Given the description of an element on the screen output the (x, y) to click on. 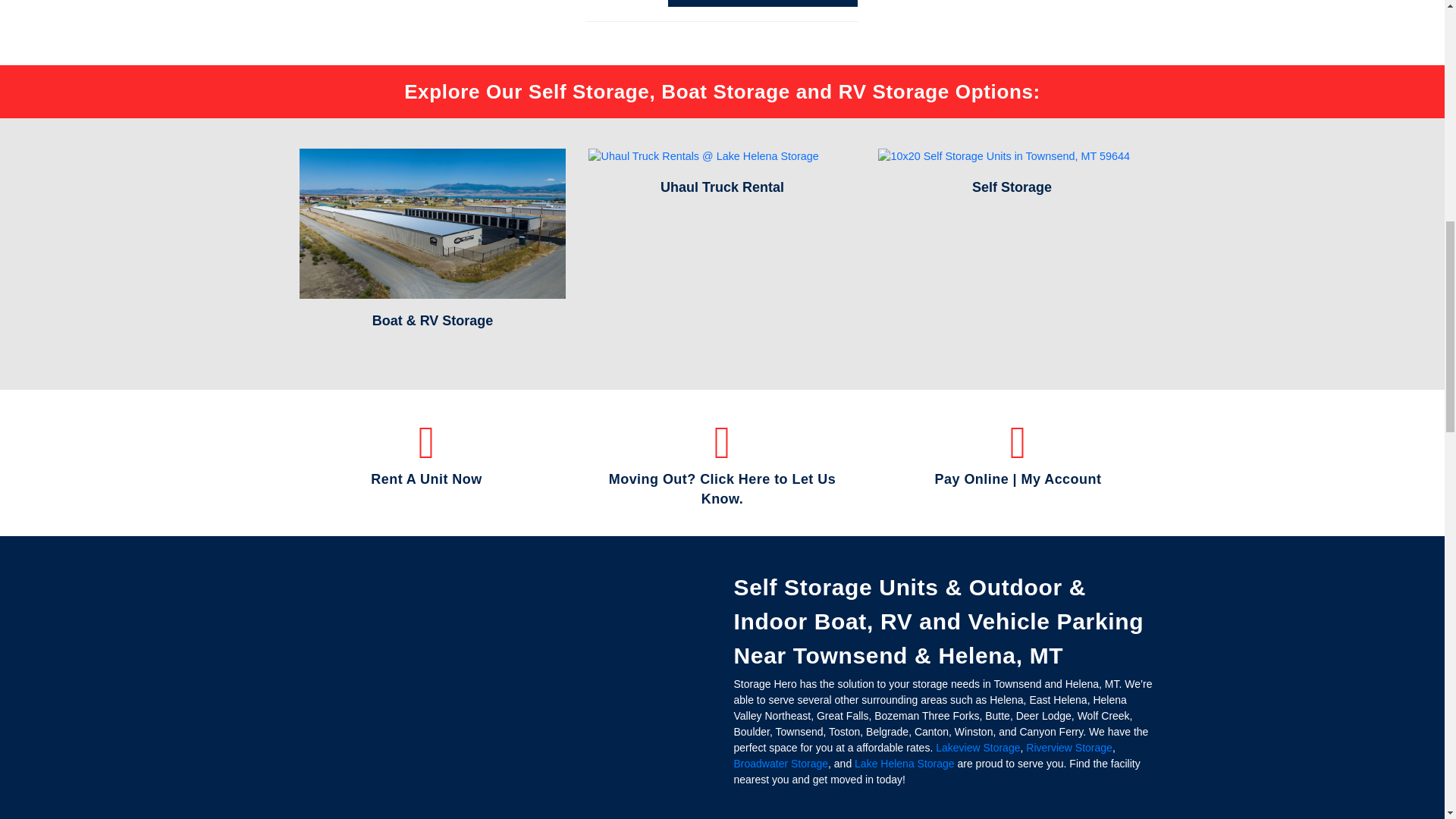
Uhaul Truck Rental (722, 186)
10x20 Self Storage Units in Townsend, MT 59644 (1003, 156)
Self Storage (1011, 186)
YouTube video player (402, 623)
